Given the description of an element on the screen output the (x, y) to click on. 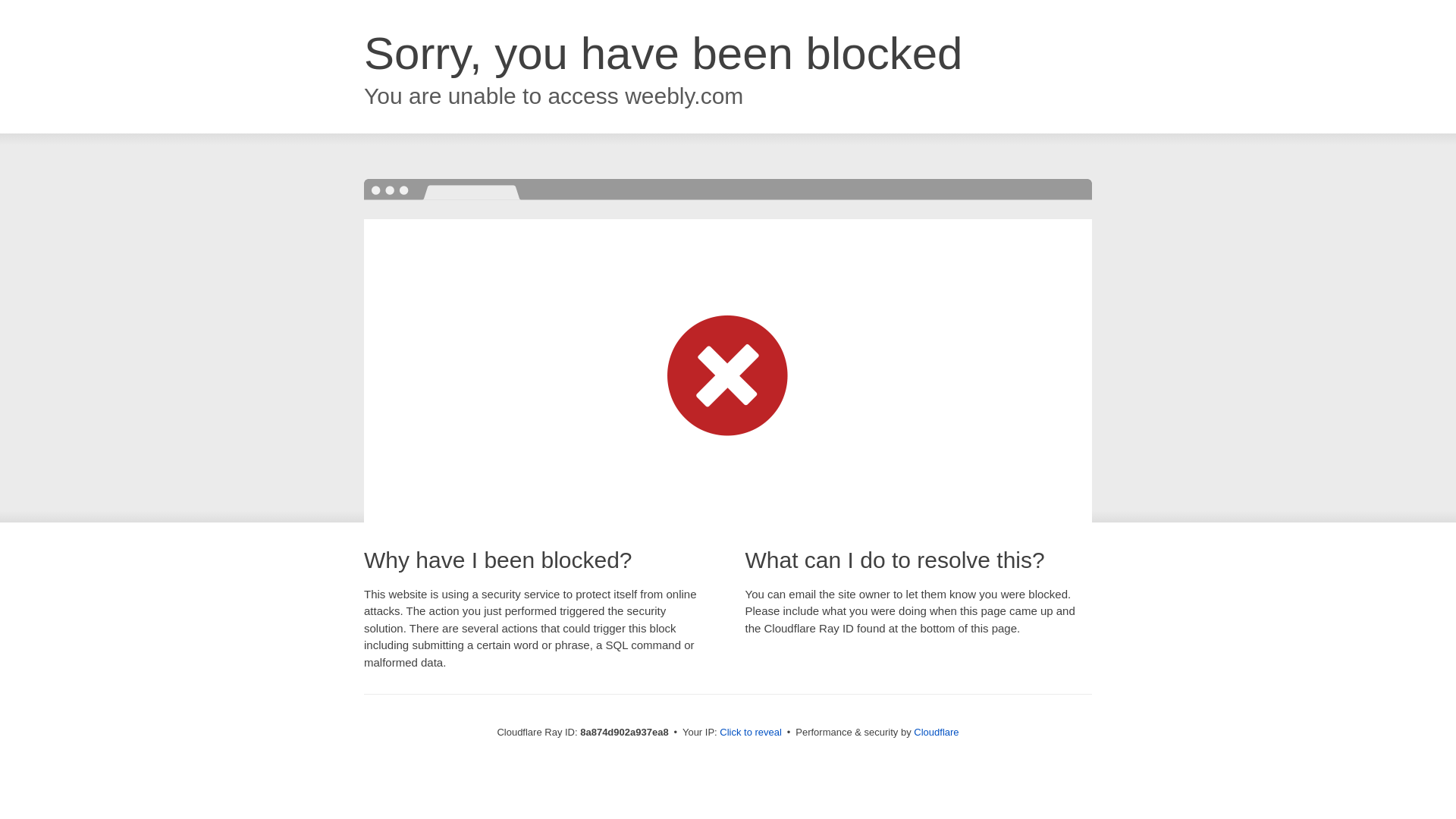
Cloudflare (936, 731)
Click to reveal (750, 732)
